Given the description of an element on the screen output the (x, y) to click on. 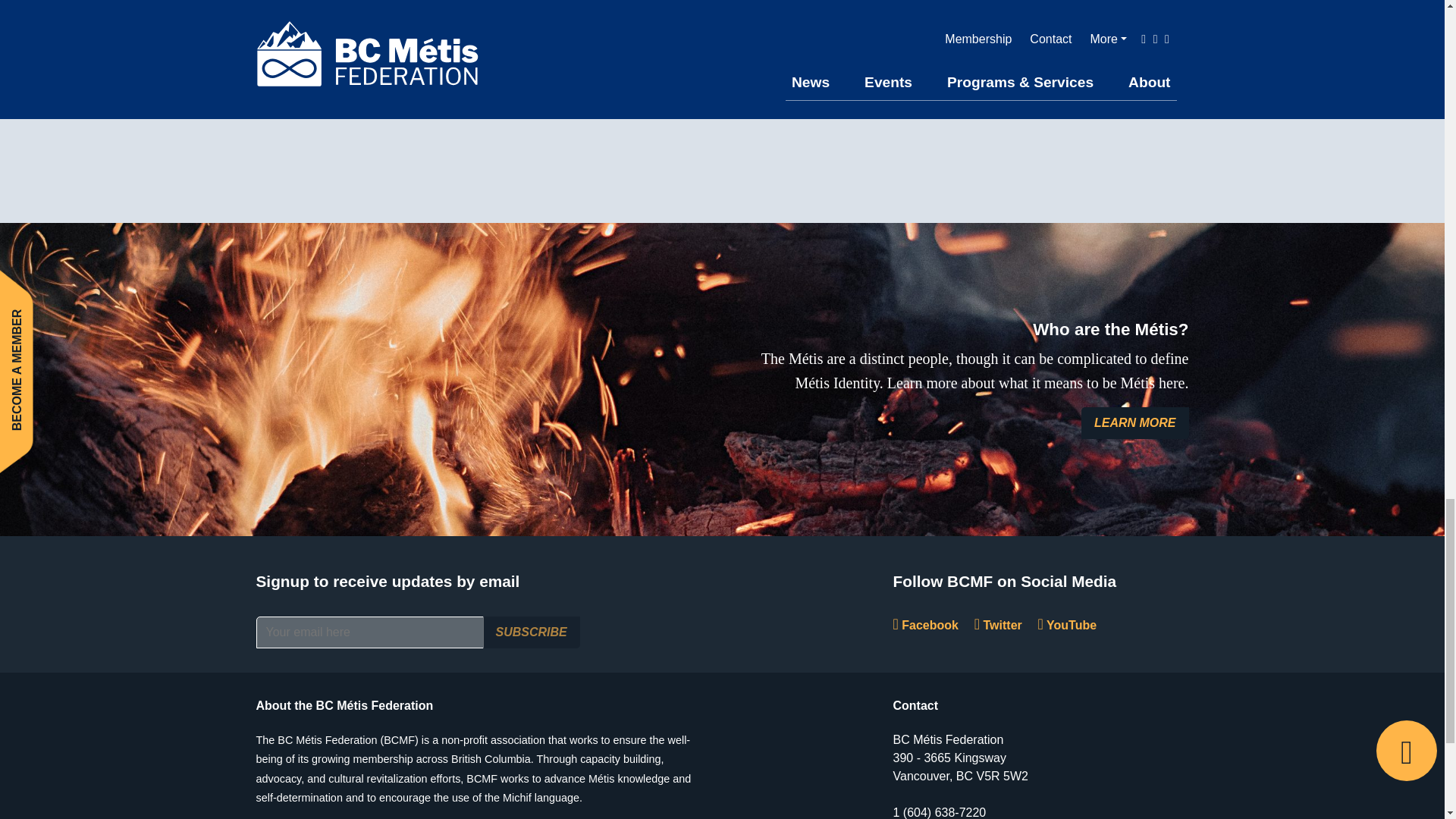
Twitter (998, 625)
LEARN MORE (1135, 422)
YouTube (1067, 625)
Previous Article (325, 99)
Facebook (925, 625)
Next Article (426, 99)
SUBSCRIBE (530, 632)
